Given the description of an element on the screen output the (x, y) to click on. 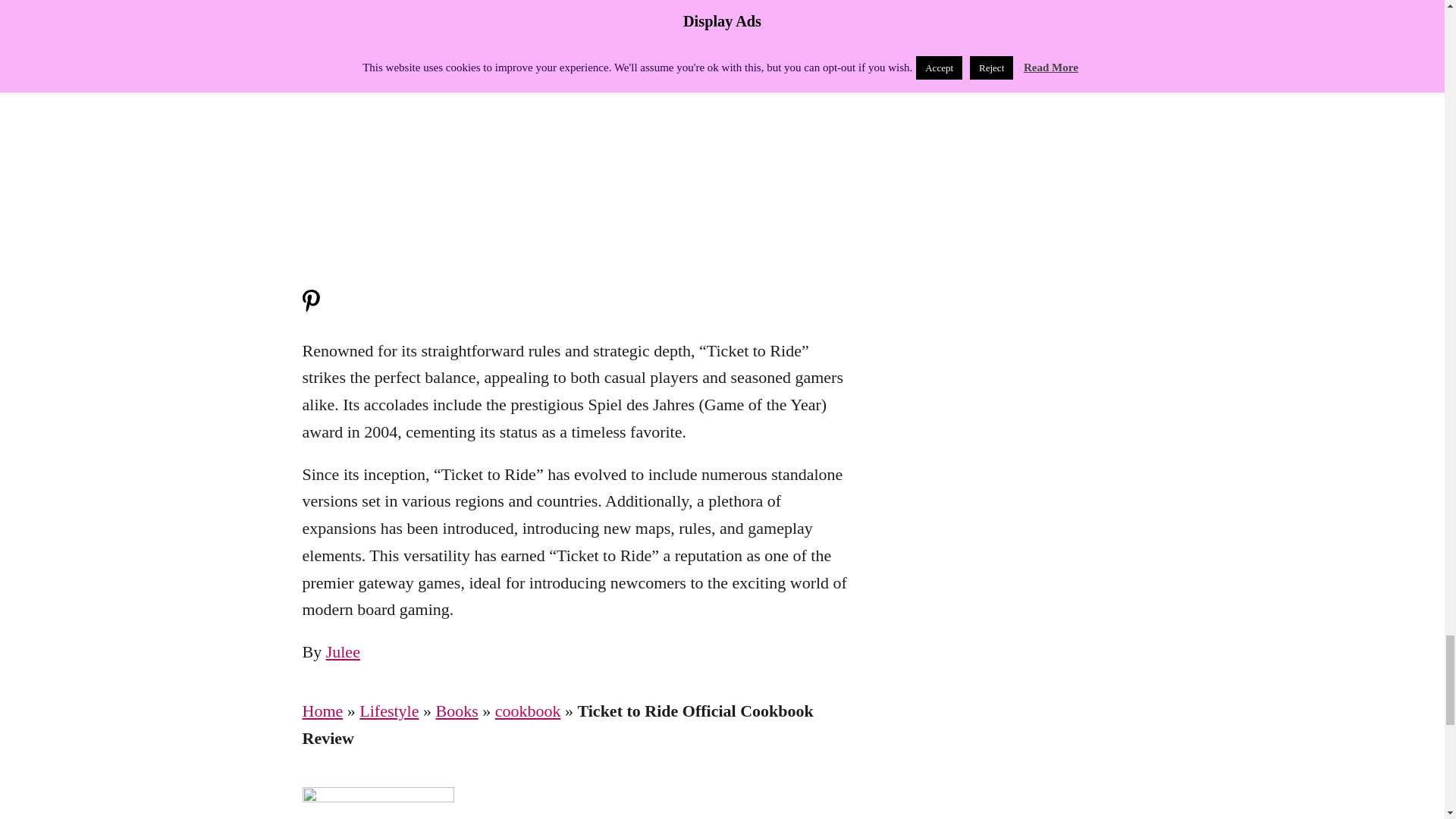
Julee (342, 651)
Home (321, 710)
Lifestyle (389, 710)
Books (456, 710)
Pin Me! (309, 307)
cookbook (527, 710)
